Given the description of an element on the screen output the (x, y) to click on. 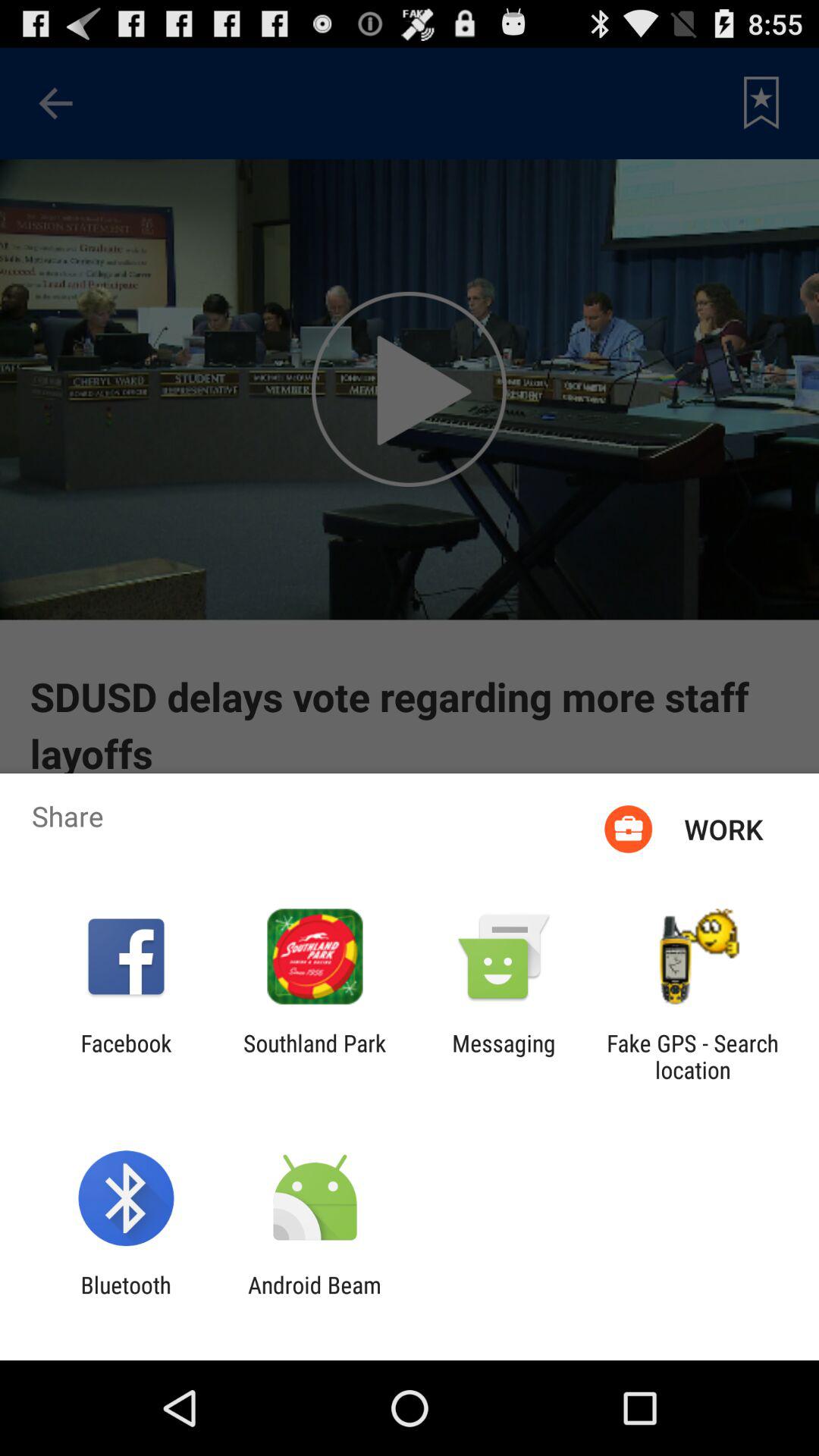
jump until android beam app (314, 1298)
